Given the description of an element on the screen output the (x, y) to click on. 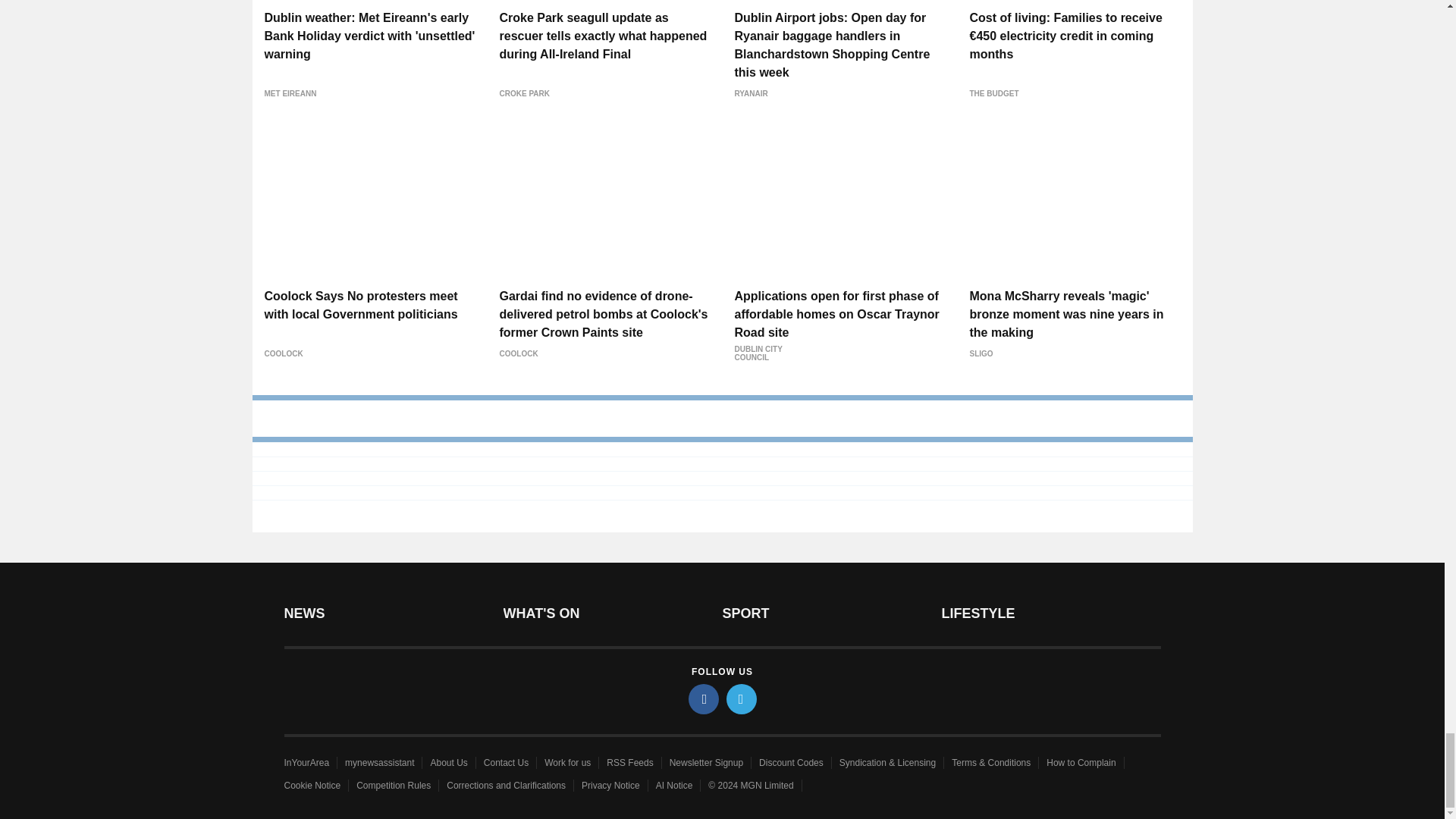
twitter (741, 698)
facebook (703, 698)
